Given the description of an element on the screen output the (x, y) to click on. 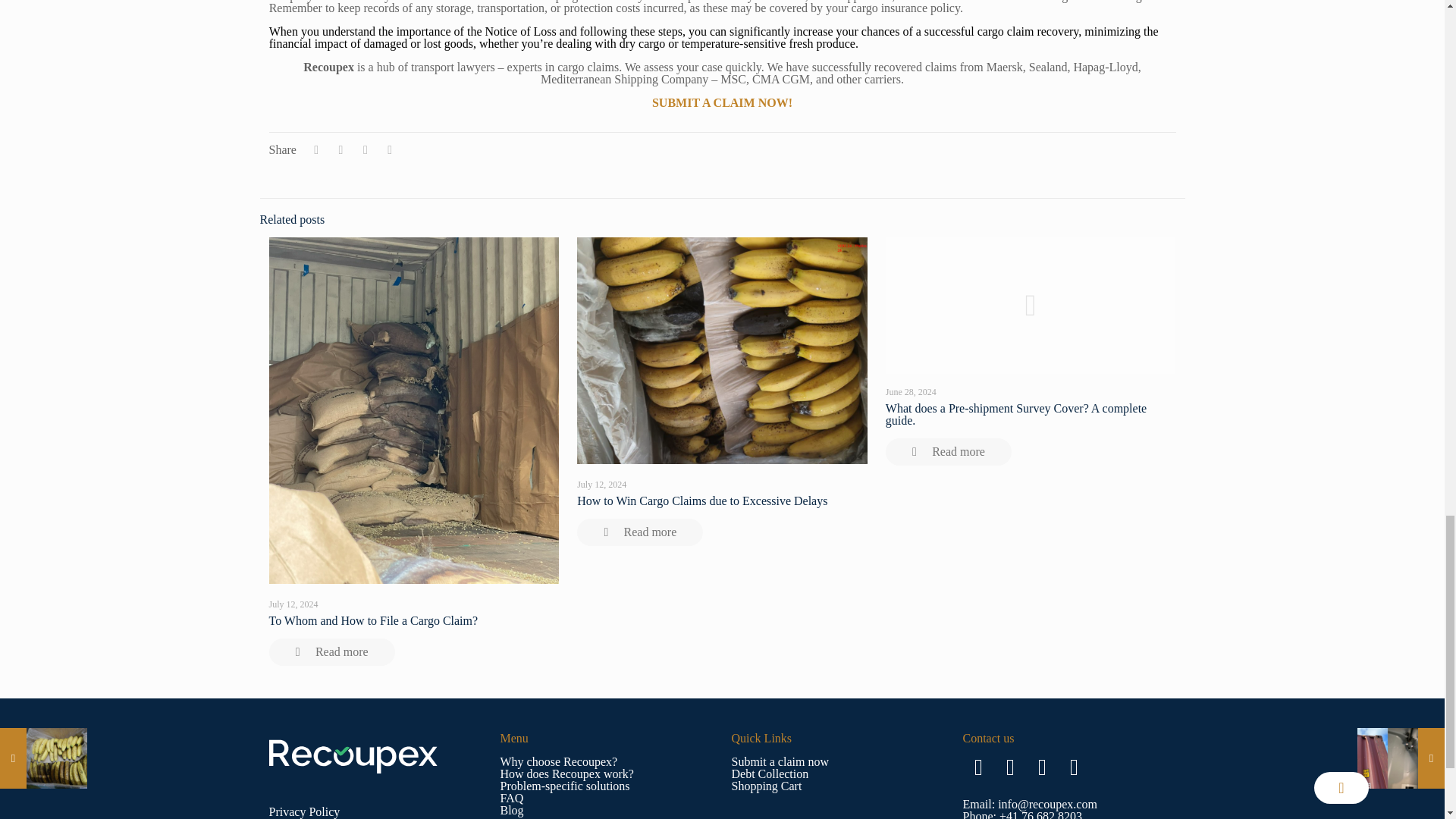
Privacy Policy (303, 811)
How to Win Cargo Claims due to Excessive Delays (701, 500)
Read more (639, 532)
SUBMIT A CLAIM NOW! (722, 102)
Terms and Conditions (321, 818)
Problem-specific solutions (565, 785)
FAQ (512, 797)
How does Recoupex work? (566, 773)
What does a Pre-shipment Survey Cover? A complete guide. (1016, 414)
Why choose Recoupex? (558, 761)
Read more (330, 651)
Blog (512, 809)
Linkedin (1042, 766)
To Whom and How to File a Cargo Claim? (372, 620)
Facebook (978, 766)
